Given the description of an element on the screen output the (x, y) to click on. 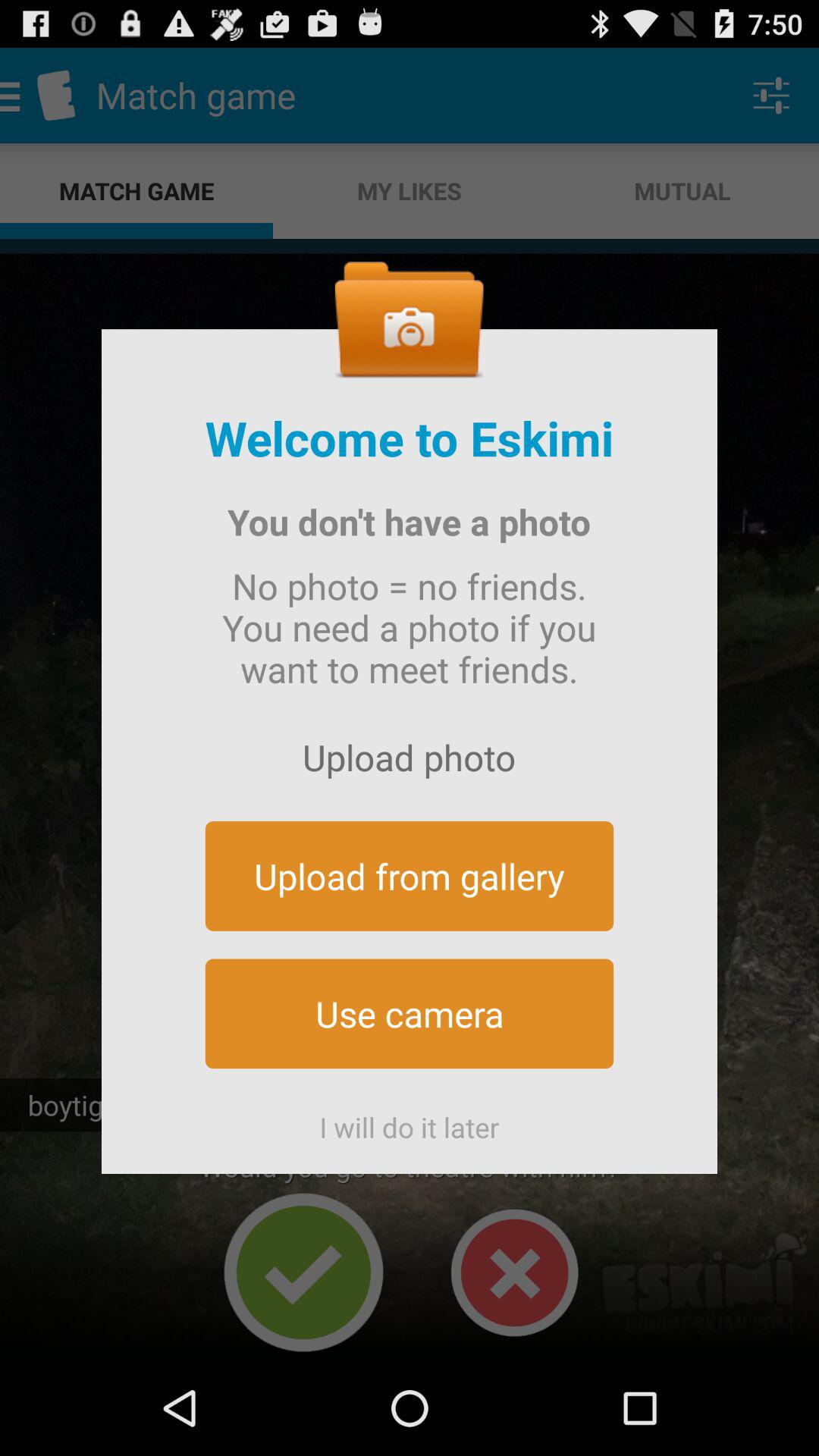
tap the app above the i will do item (409, 1013)
